Given the description of an element on the screen output the (x, y) to click on. 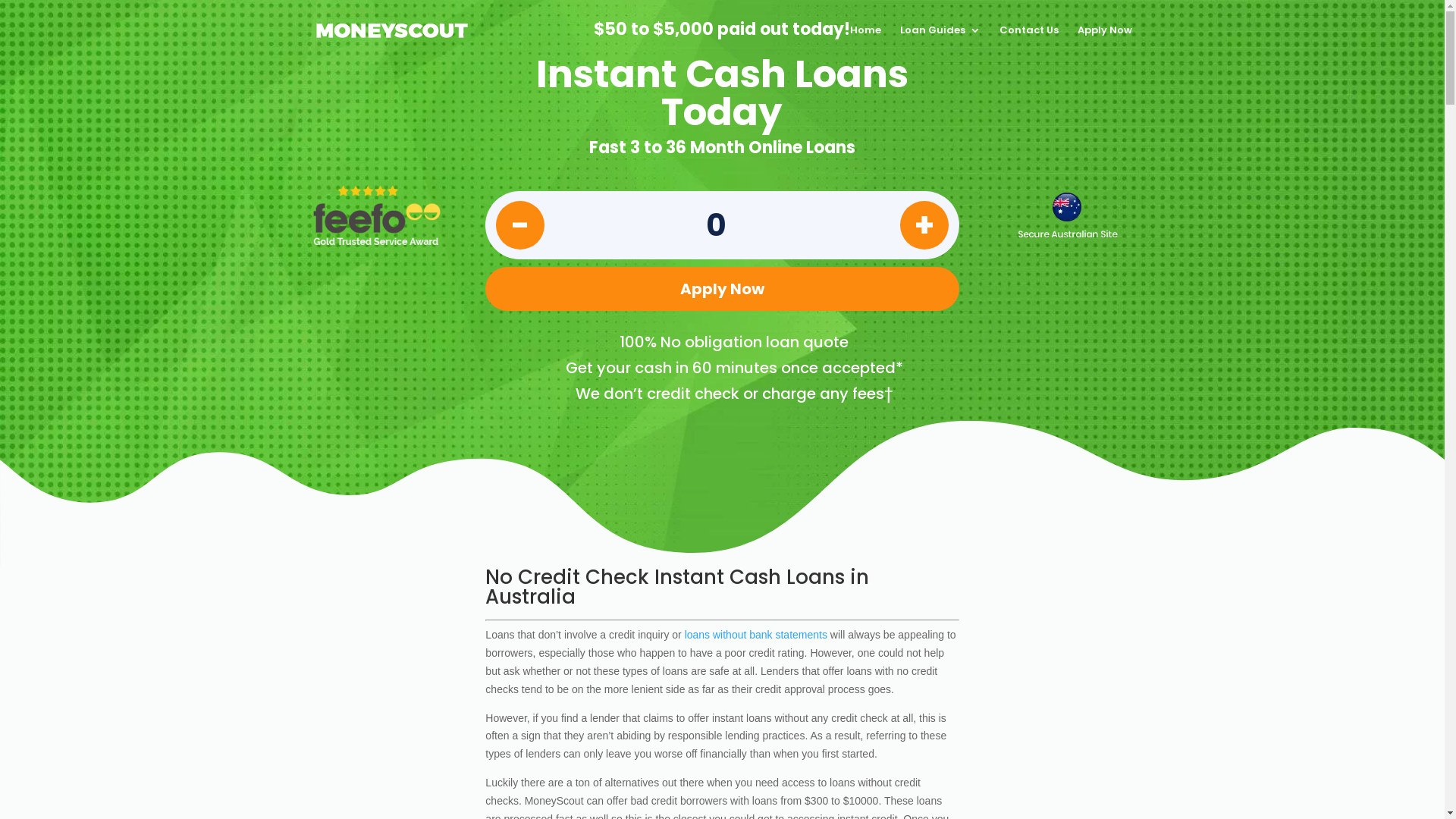
Secure-Auatralian-Site- Element type: hover (1067, 215)
Loan Guides Element type: text (939, 42)
Apply Now Element type: text (721, 288)
+ Element type: text (924, 224)
Gold-Trusted-Service-Award Element type: hover (376, 214)
Home Element type: text (864, 42)
- Element type: text (519, 224)
loans without bank statements Element type: text (755, 634)
Apply Now Element type: text (1103, 42)
Contact Us Element type: text (1028, 42)
